Given the description of an element on the screen output the (x, y) to click on. 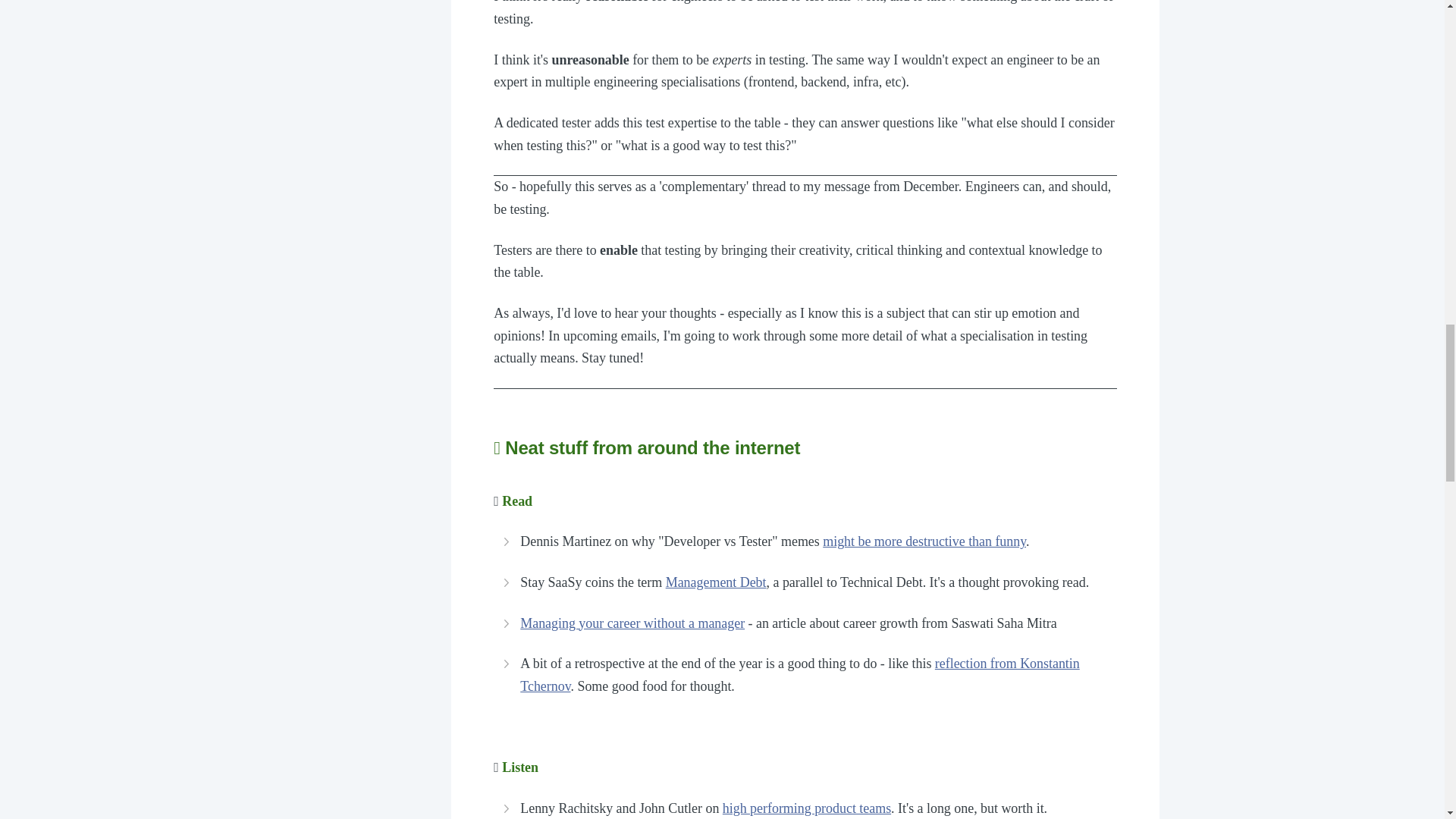
Management Debt (716, 581)
might be more destructive than funny (924, 540)
high performing product teams (806, 807)
Managing your career without a manager (631, 622)
reflection from Konstantin Tchernov (799, 674)
